Given the description of an element on the screen output the (x, y) to click on. 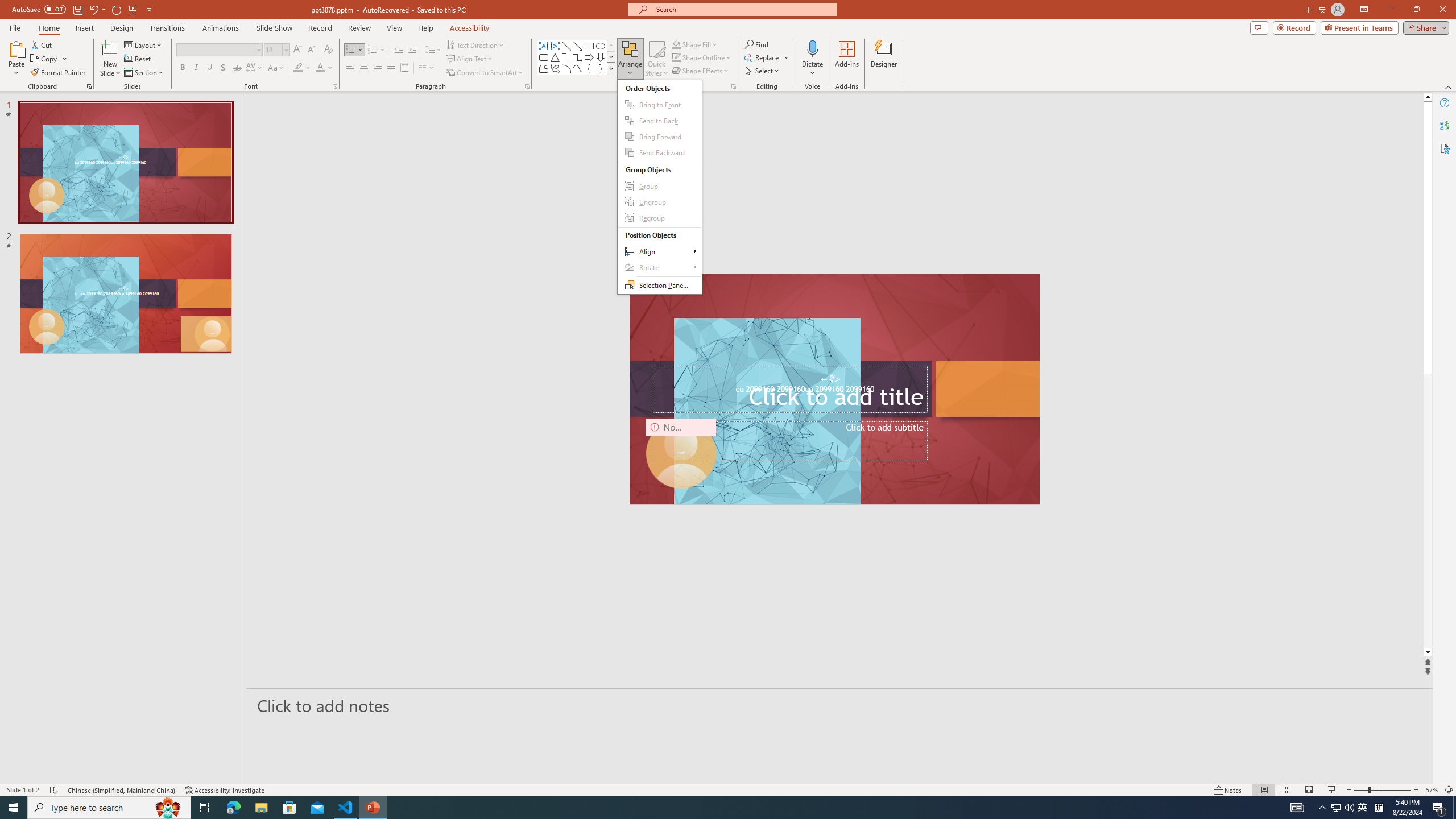
Notification Chevron (1322, 807)
Line (566, 45)
Isosceles Triangle (554, 57)
File Explorer (261, 807)
Justify (390, 67)
Font... (334, 85)
Text Direction (1362, 807)
Rectangle (476, 44)
Select (589, 45)
